Given the description of an element on the screen output the (x, y) to click on. 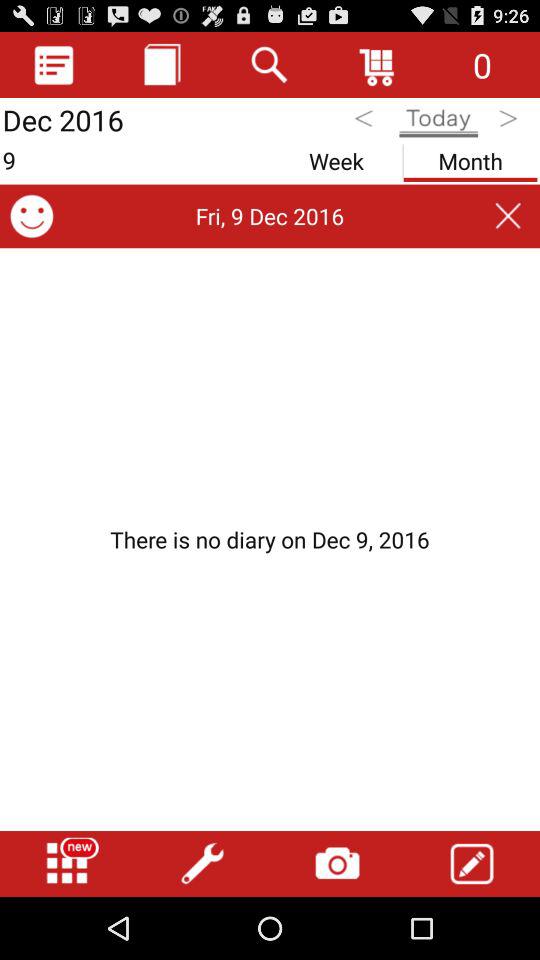
click icon to the right of 9 item (336, 157)
